Given the description of an element on the screen output the (x, y) to click on. 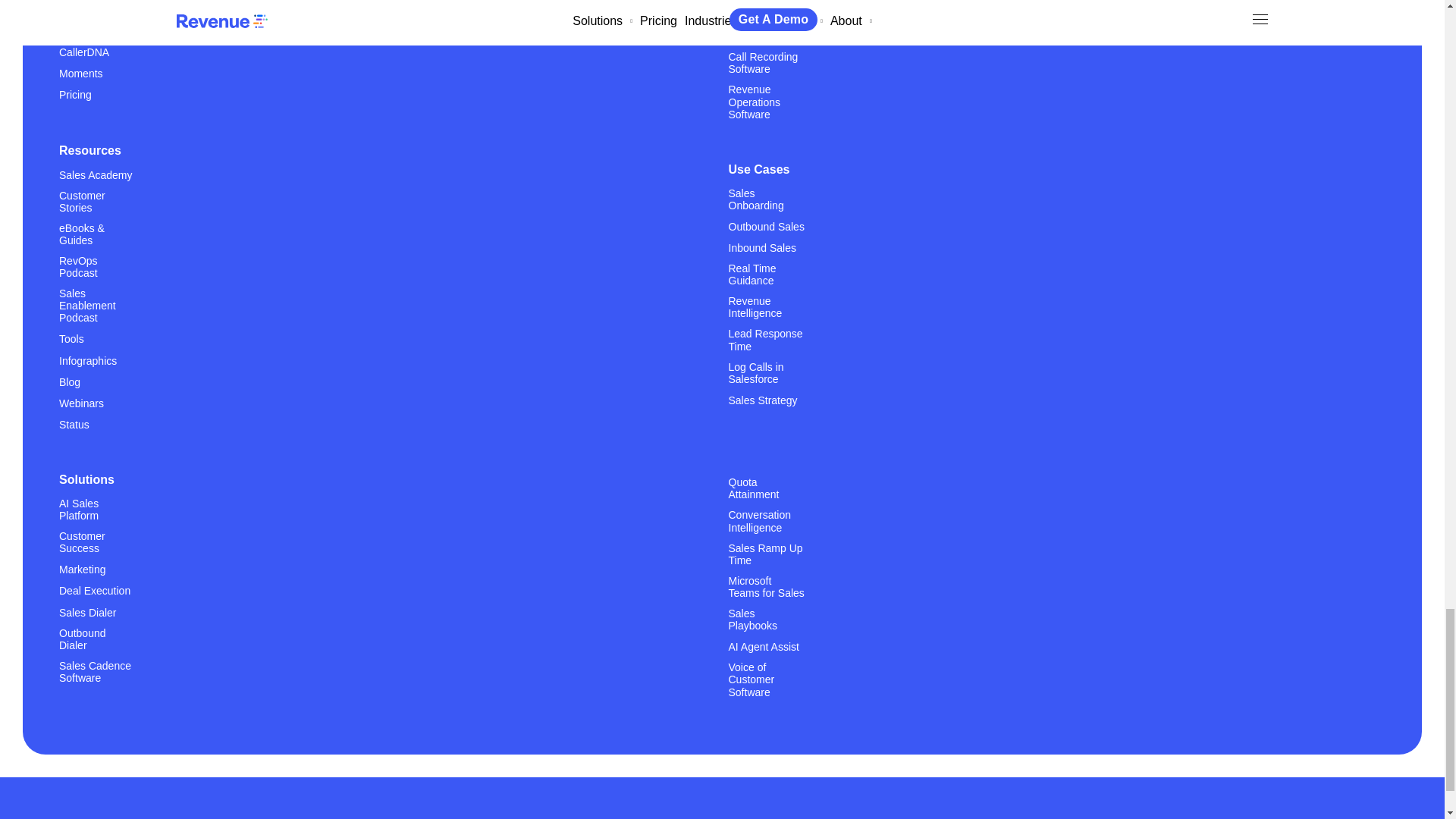
Guided Selling (93, 30)
Conversation AI (96, 9)
